Given the description of an element on the screen output the (x, y) to click on. 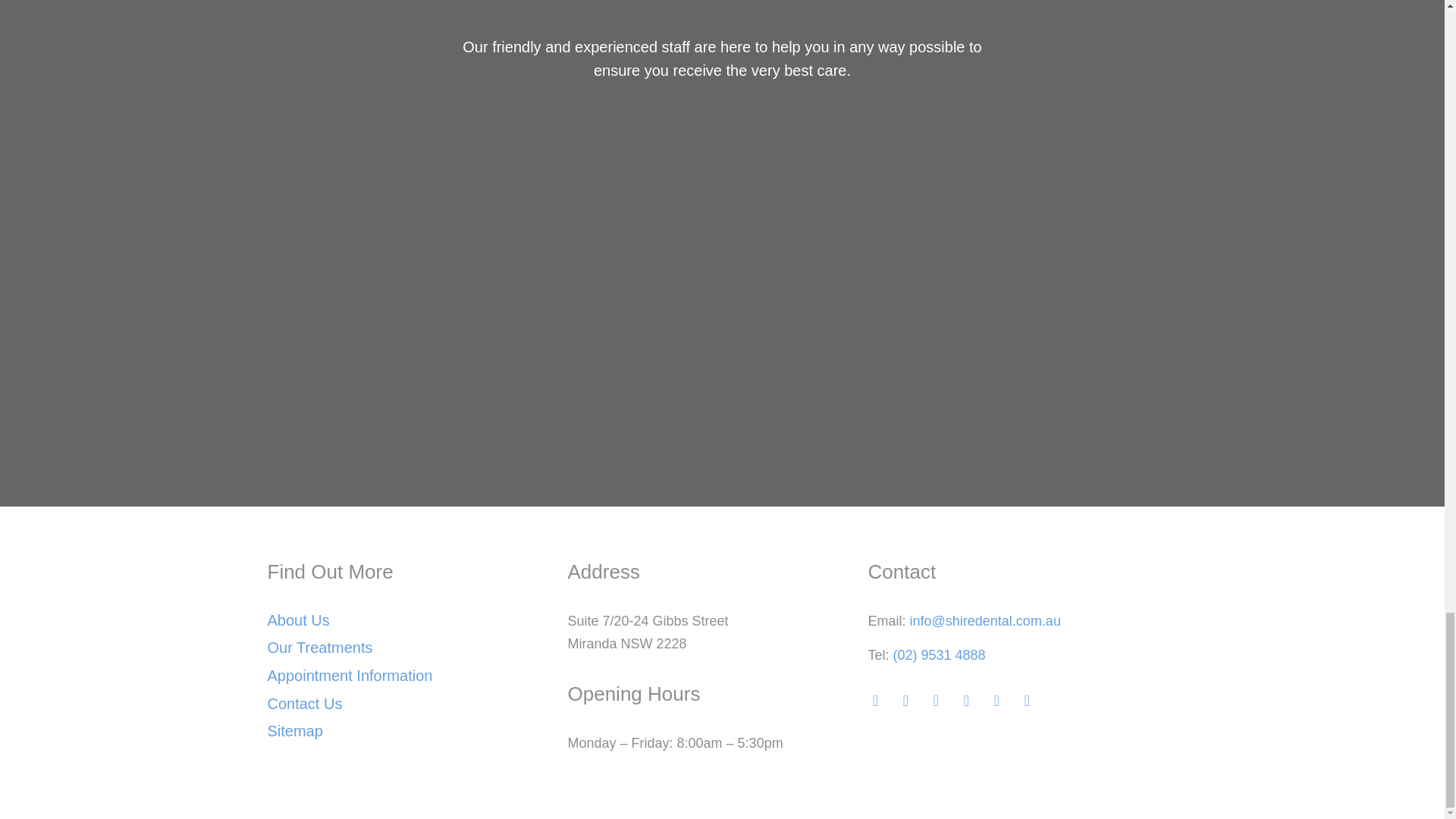
Appointment Information (349, 675)
Our Treatments (319, 647)
About Us (297, 619)
Contact Us (304, 703)
Sitemap (293, 730)
